Given the description of an element on the screen output the (x, y) to click on. 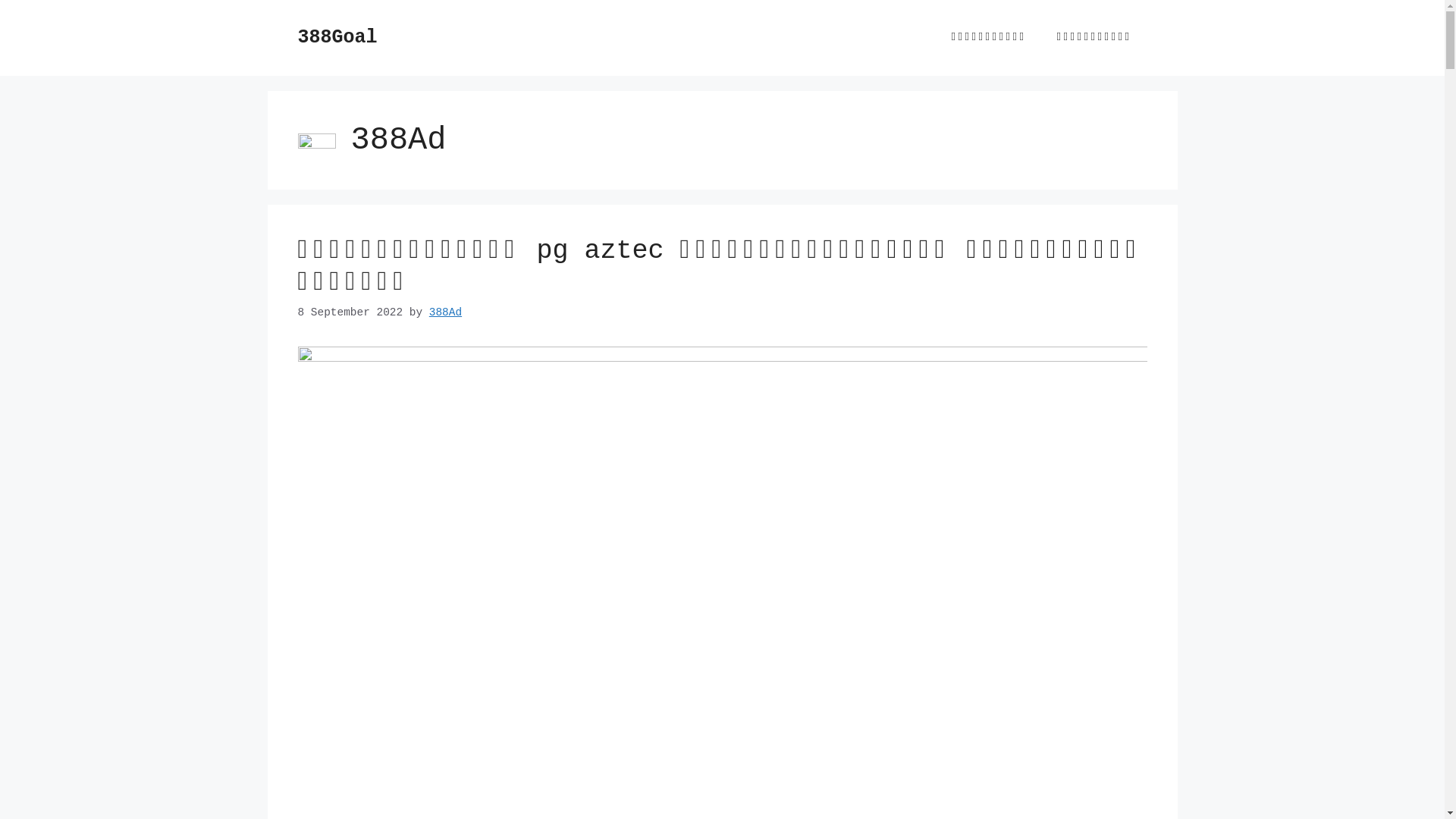
388Goal Element type: text (336, 37)
388Ad Element type: text (445, 312)
